Given the description of an element on the screen output the (x, y) to click on. 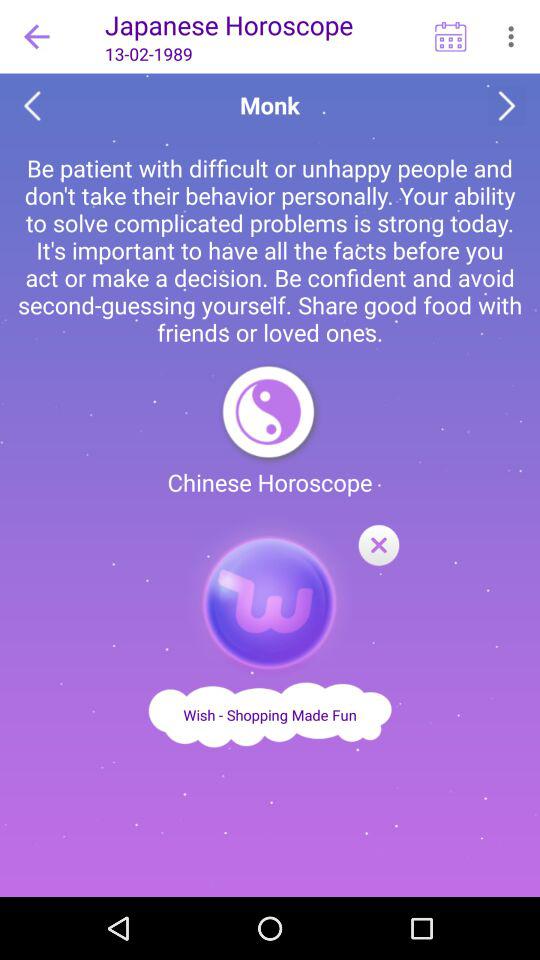
close button (378, 546)
